Given the description of an element on the screen output the (x, y) to click on. 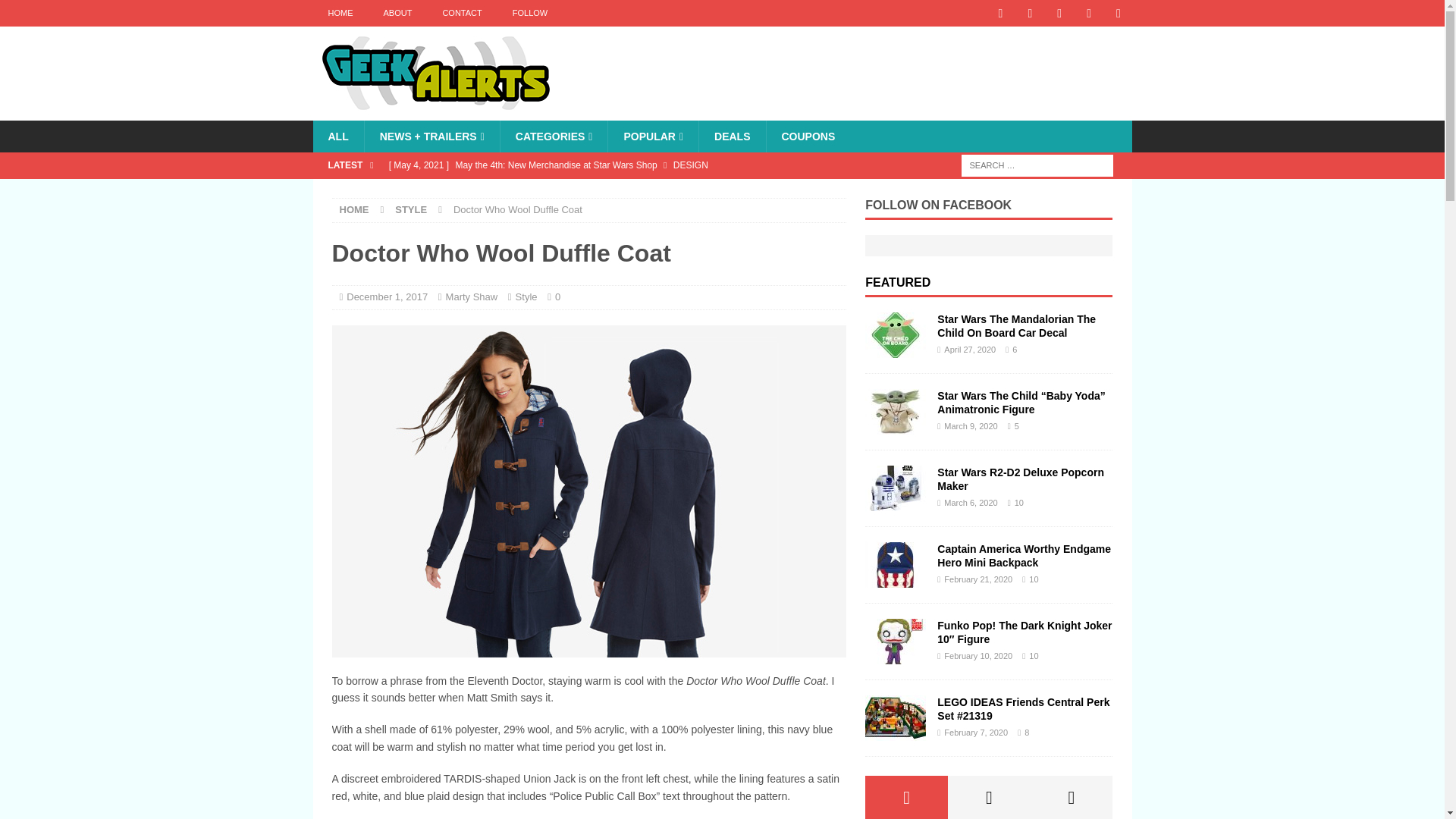
ABOUT (398, 13)
HOME (340, 13)
Rick and Morty Get Shwifty Bluetooth Speaker (612, 190)
CONTACT (461, 13)
May the 4th: New Merchandise at Star Wars Shop (612, 165)
FOLLOW (529, 13)
